Given the description of an element on the screen output the (x, y) to click on. 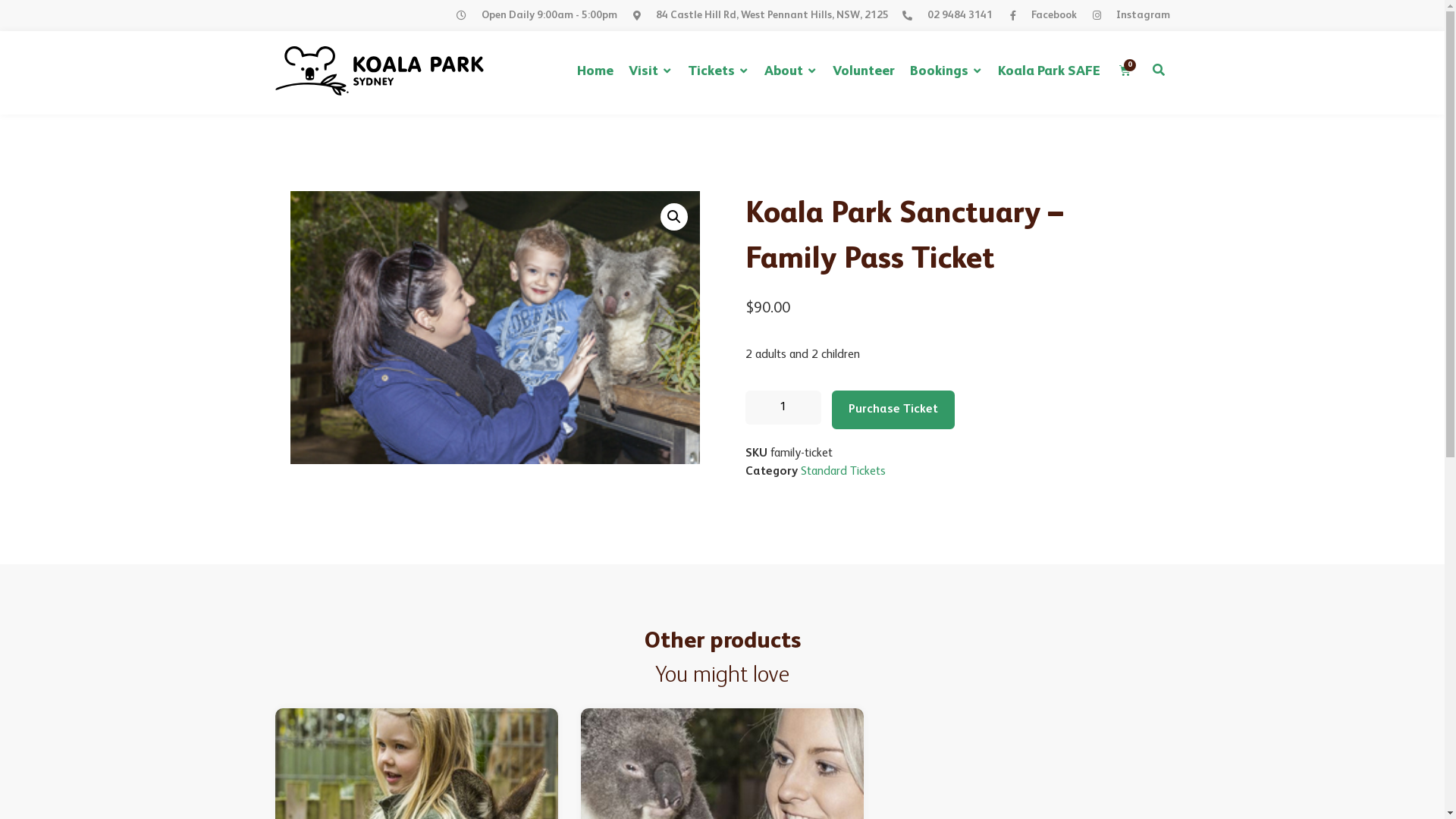
0 Element type: text (1124, 70)
Home Element type: text (595, 70)
About Element type: text (790, 70)
Facebook Element type: text (1040, 15)
family Element type: hover (494, 327)
84 Castle Hill Rd, West Pennant Hills, NSW, 2125 Element type: text (757, 15)
02 9484 3141 Element type: text (946, 15)
Visit Element type: text (650, 70)
Purchase Ticket Element type: text (892, 409)
Open Daily 9:00am - 5:00pm Element type: text (534, 15)
Volunteer Element type: text (863, 70)
Koala Park SAFE Element type: text (1048, 70)
Standard Tickets Element type: text (842, 471)
Tickets Element type: text (718, 70)
Instagram Element type: text (1128, 15)
Bookings Element type: text (946, 70)
